Given the description of an element on the screen output the (x, y) to click on. 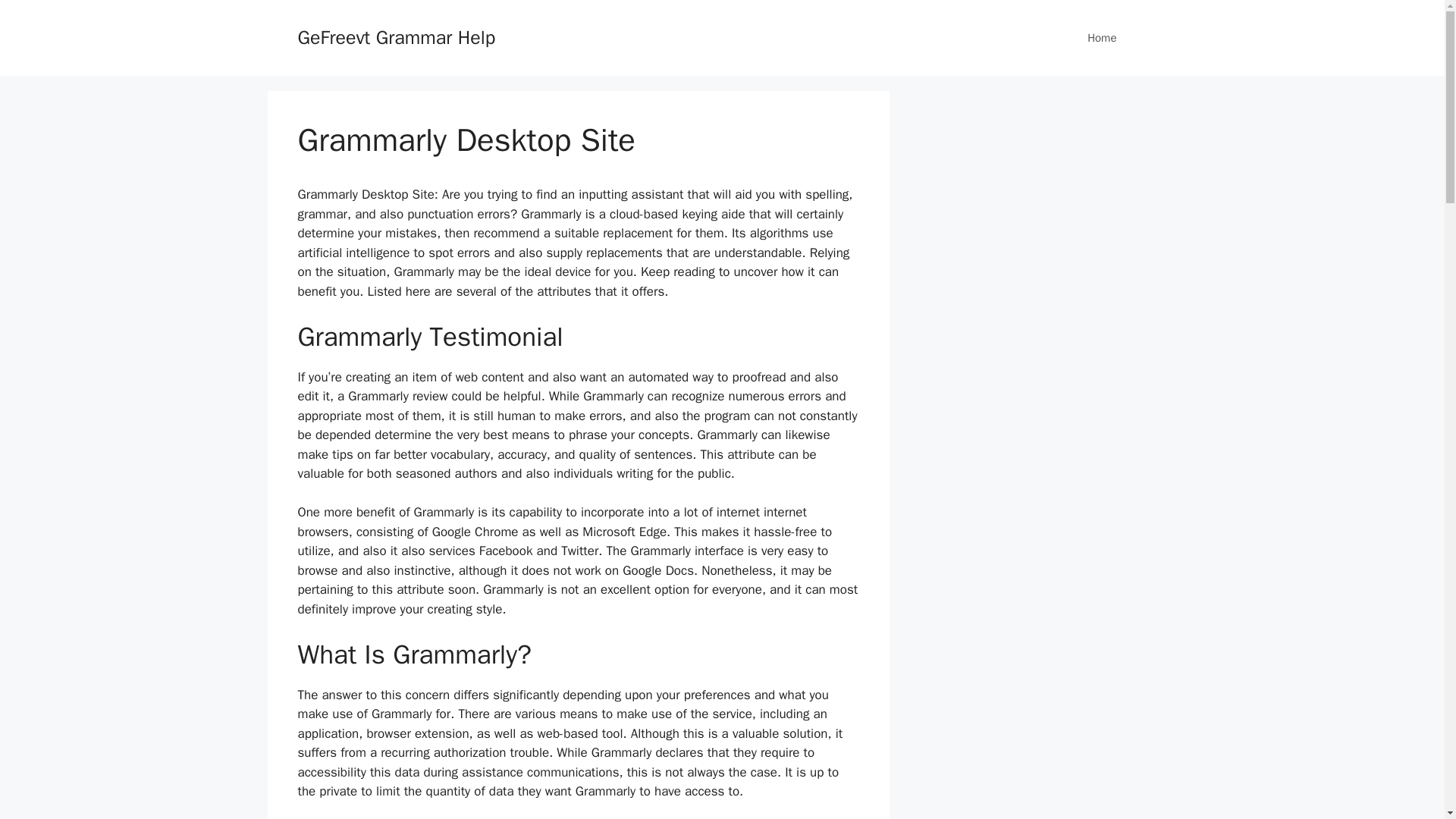
Home (1101, 37)
GeFreevt Grammar Help (396, 37)
